Given the description of an element on the screen output the (x, y) to click on. 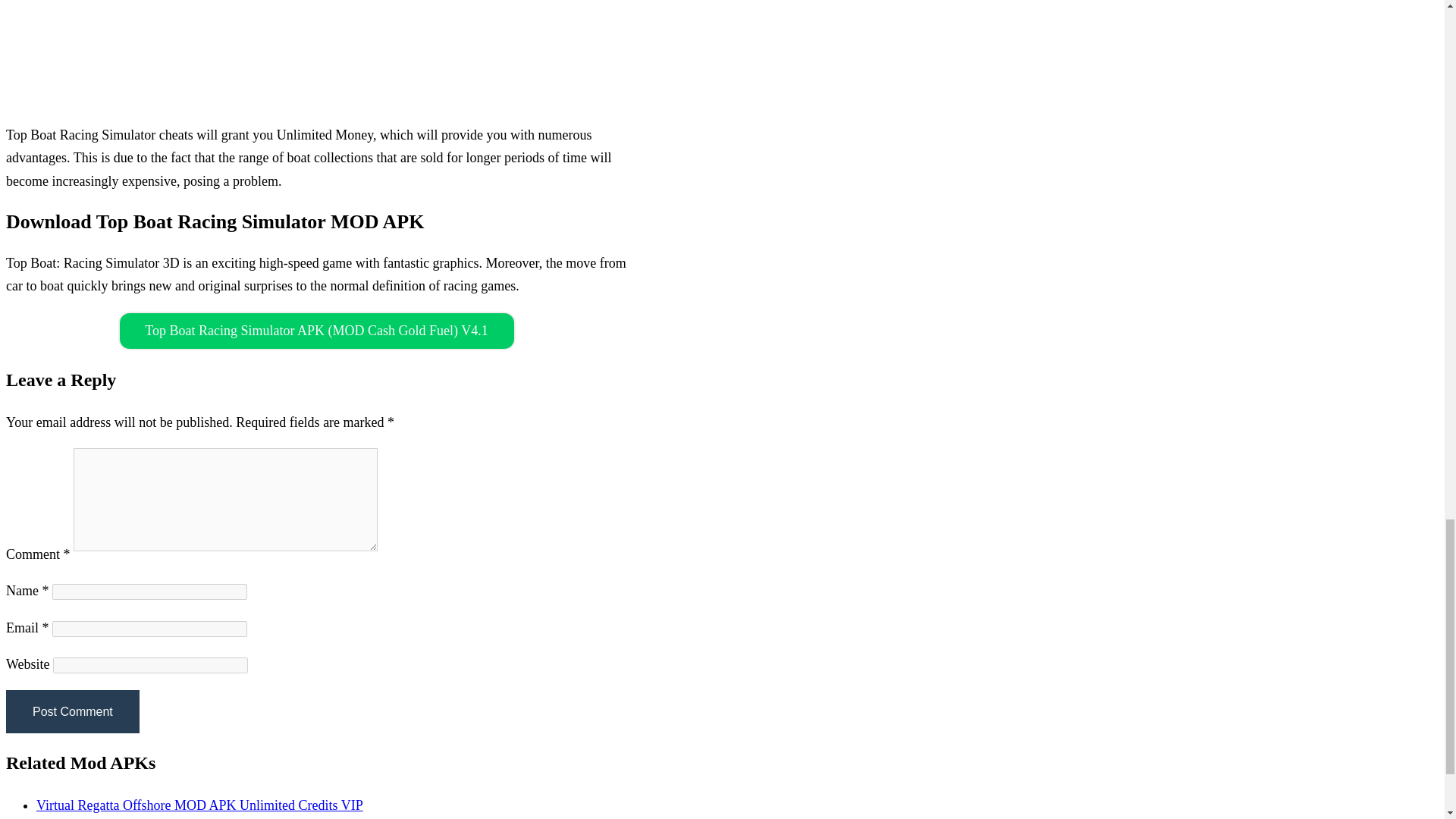
Virtual Regatta Offshore MOD APK Unlimited Credits VIP (199, 805)
Post Comment (72, 711)
Post Comment (72, 711)
Top Boat Racing Simulator MOD APK (316, 54)
